Given the description of an element on the screen output the (x, y) to click on. 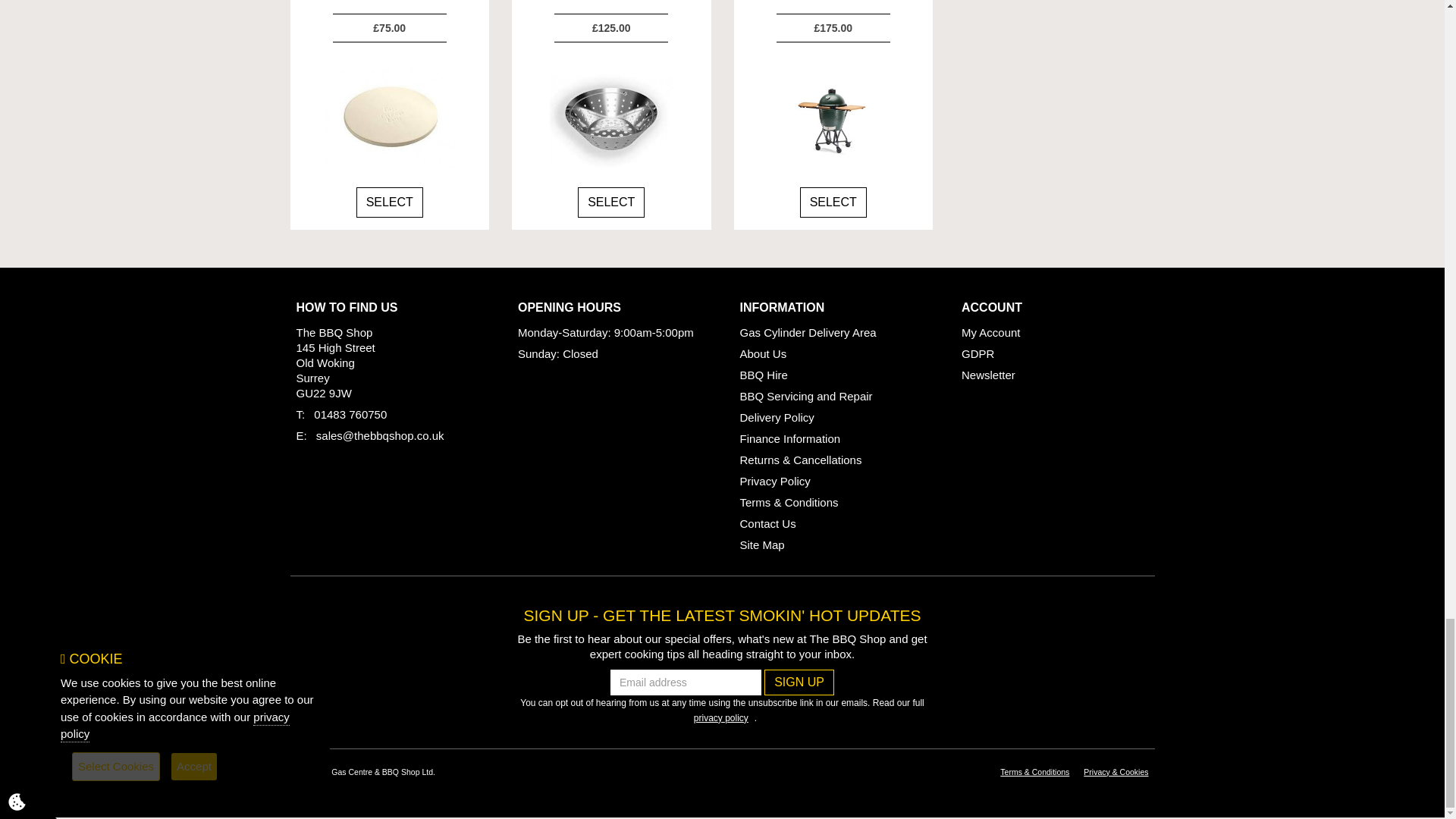
Big Green Egg Stainless Steel Fire Bowl For Large Egg (611, 117)
Big Green Egg Baking Stone for Large (389, 117)
Sign up (799, 682)
Big Green Egg Acacia Shelves for Large (832, 117)
